Given the description of an element on the screen output the (x, y) to click on. 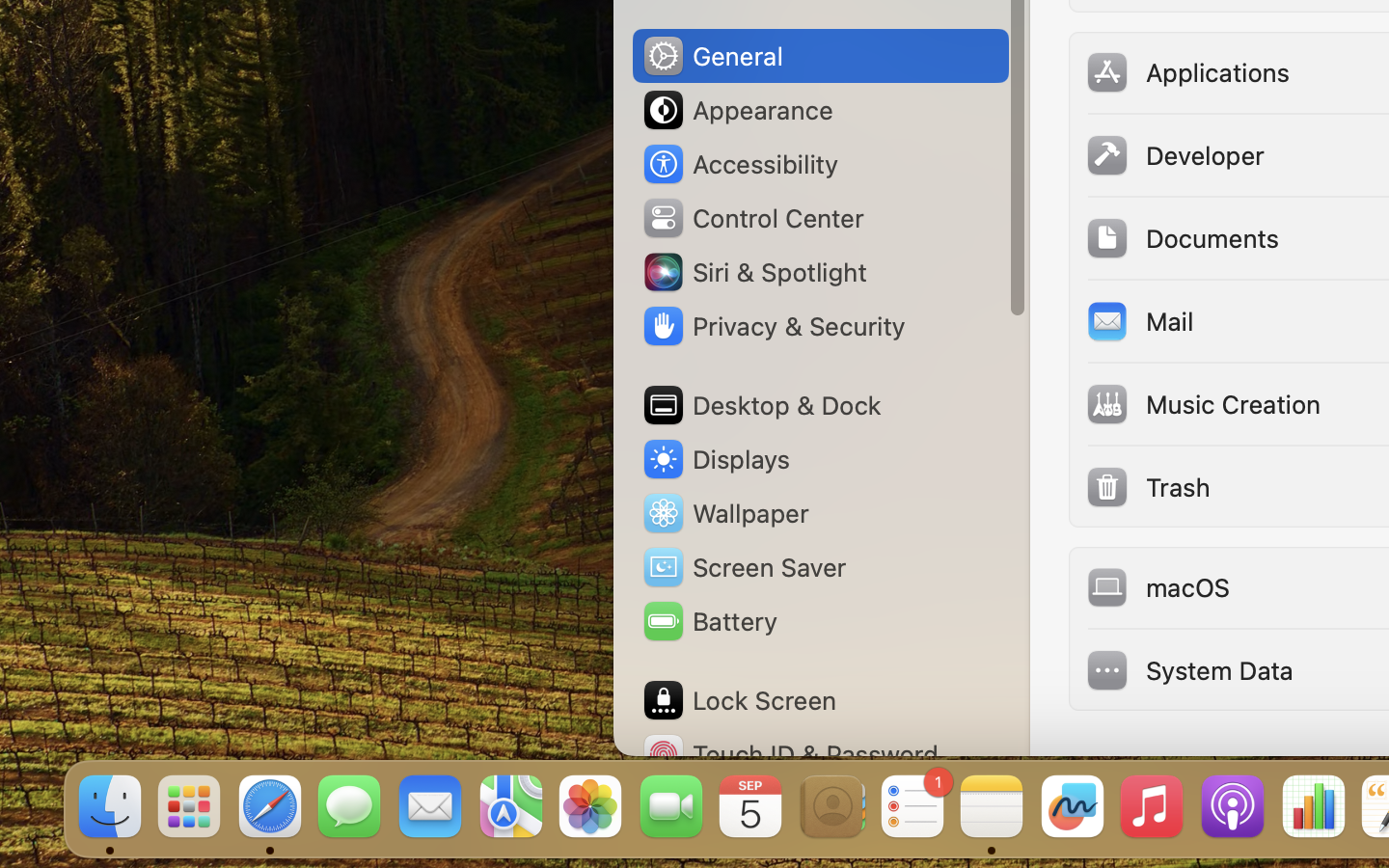
Displays Element type: AXStaticText (715, 458)
System Data Element type: AXStaticText (1189, 669)
Wallpaper Element type: AXStaticText (724, 512)
Appearance Element type: AXStaticText (736, 109)
Desktop & Dock Element type: AXStaticText (760, 404)
